Given the description of an element on the screen output the (x, y) to click on. 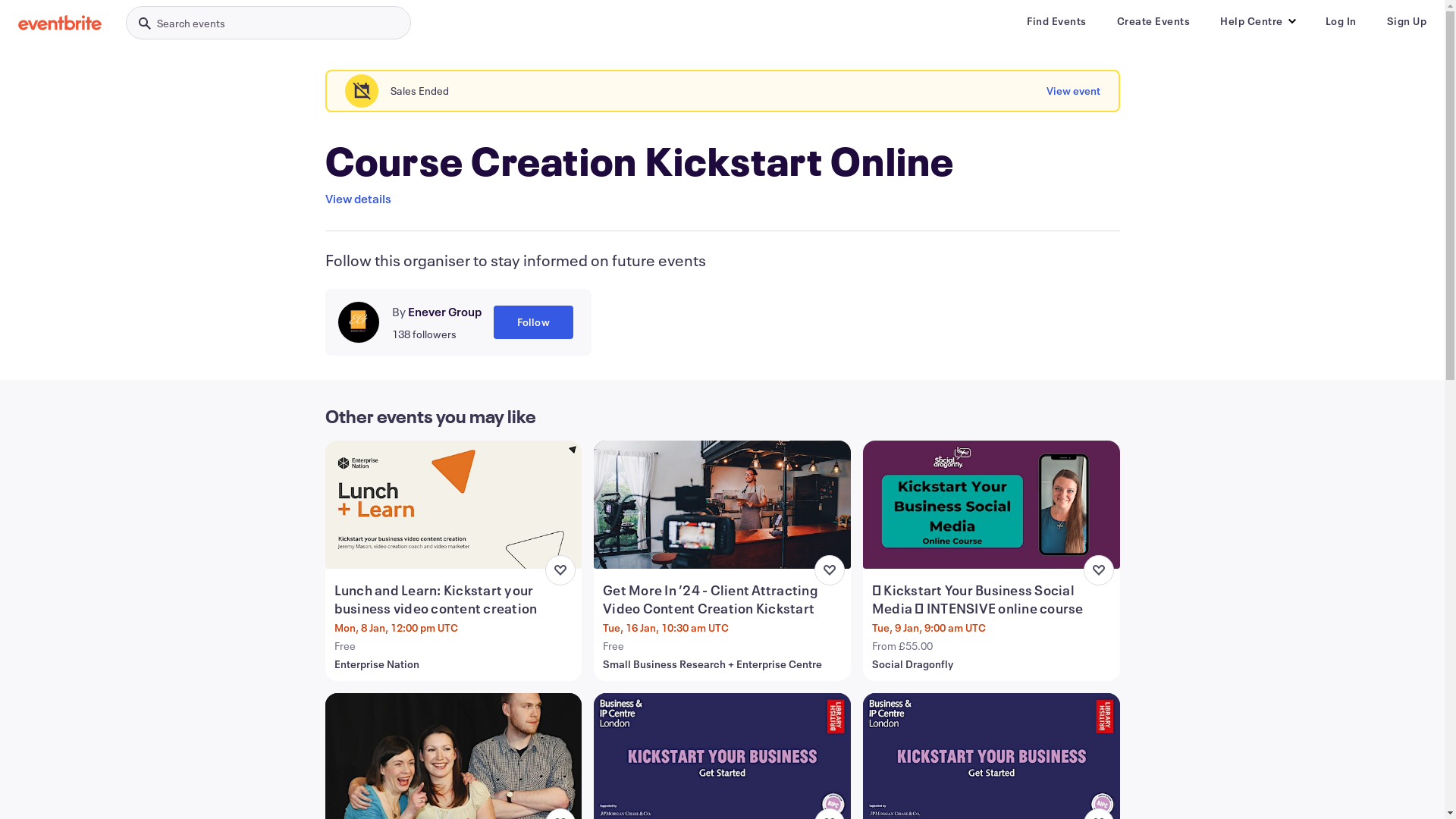
Create Events Element type: text (1152, 21)
Sign Up Element type: text (1406, 21)
Find Events Element type: text (1056, 21)
View details Element type: text (357, 198)
Follow Element type: text (532, 321)
Log In Element type: text (1340, 21)
Search events Element type: text (268, 22)
Eventbrite Element type: hover (59, 22)
View event Element type: text (1073, 90)
